Given the description of an element on the screen output the (x, y) to click on. 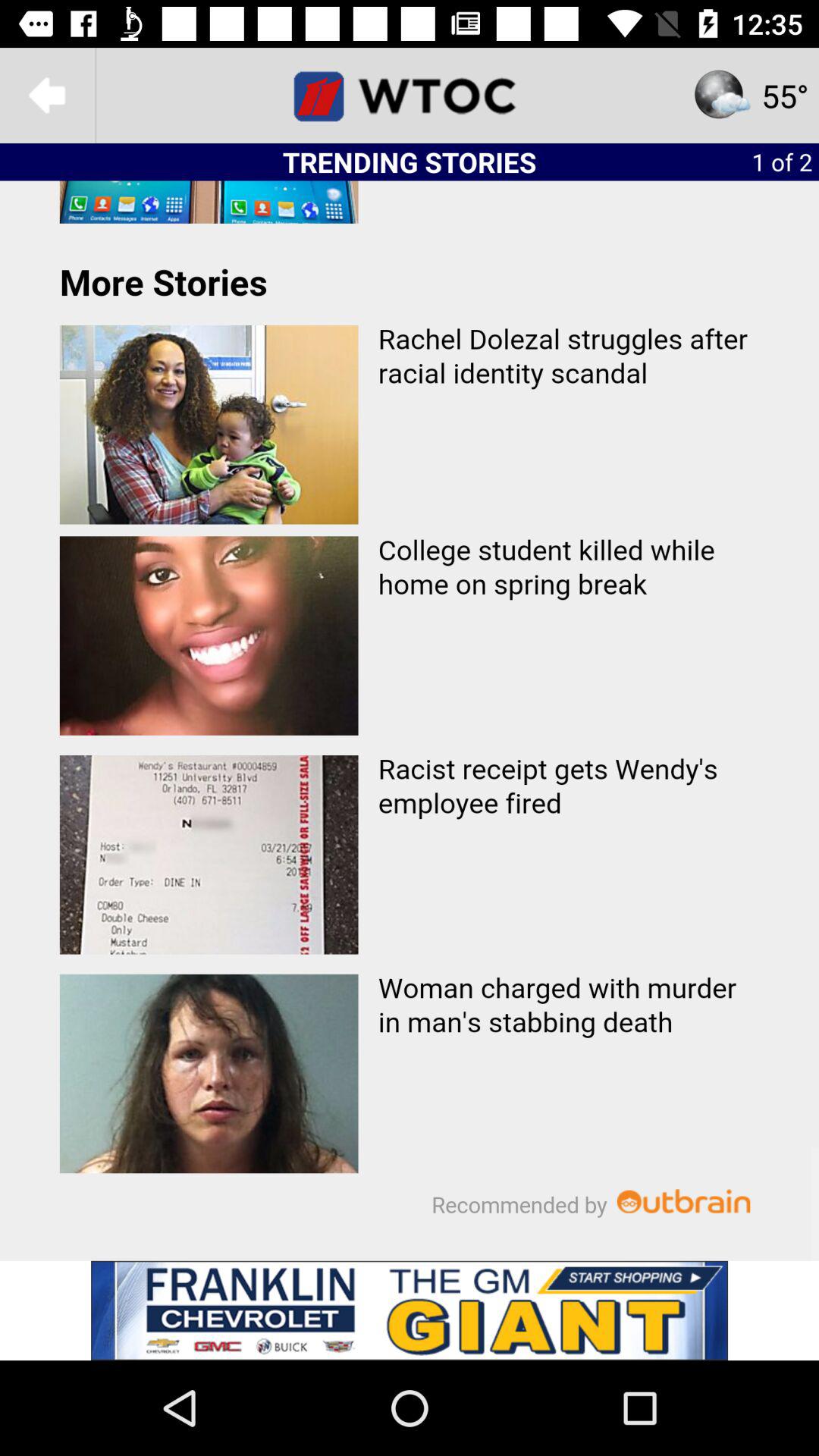
wtoc homepage (409, 95)
